Given the description of an element on the screen output the (x, y) to click on. 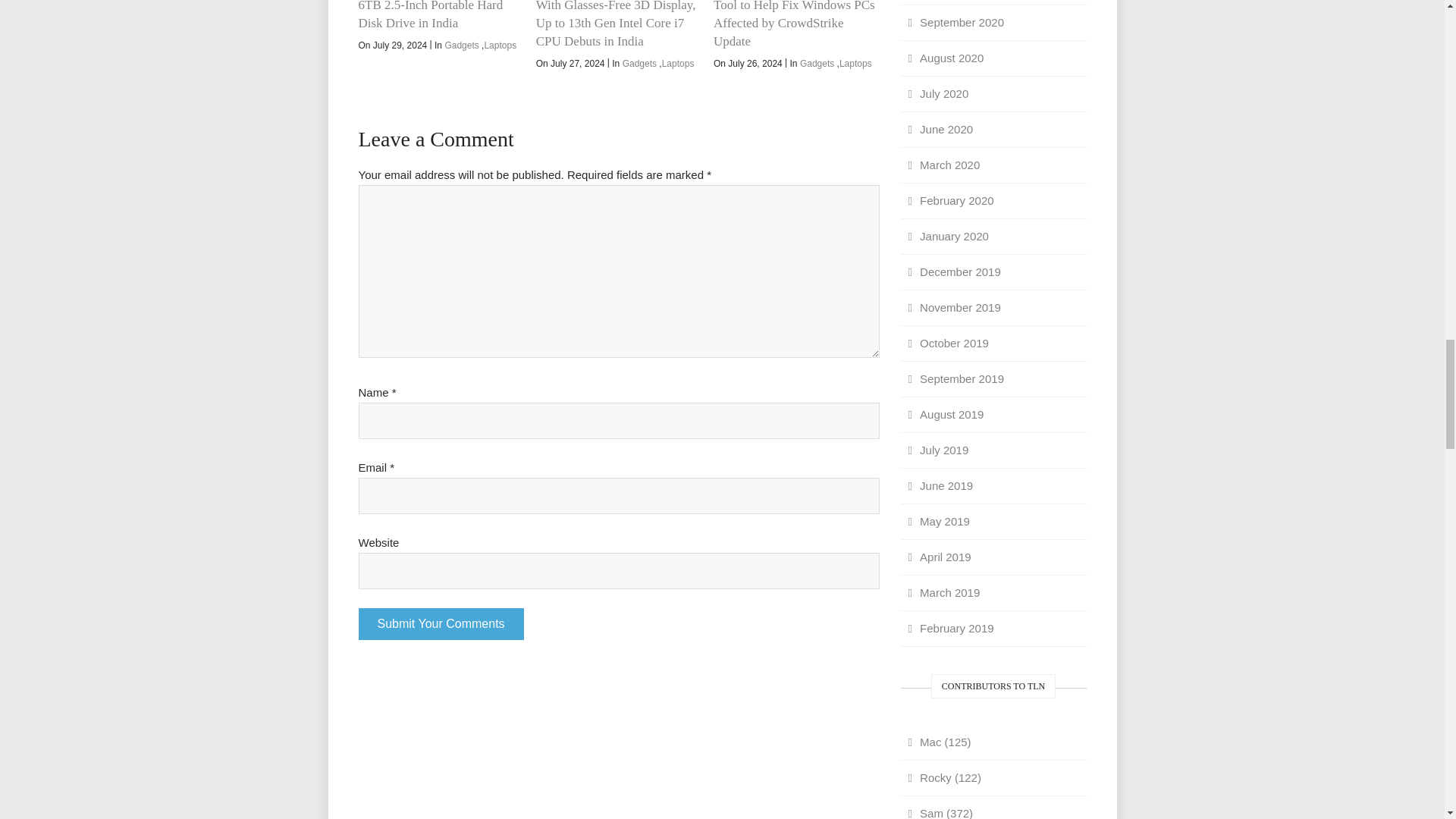
View Mac archive (993, 742)
View Rocky archive (993, 778)
Submit Your Comments (440, 623)
